Given the description of an element on the screen output the (x, y) to click on. 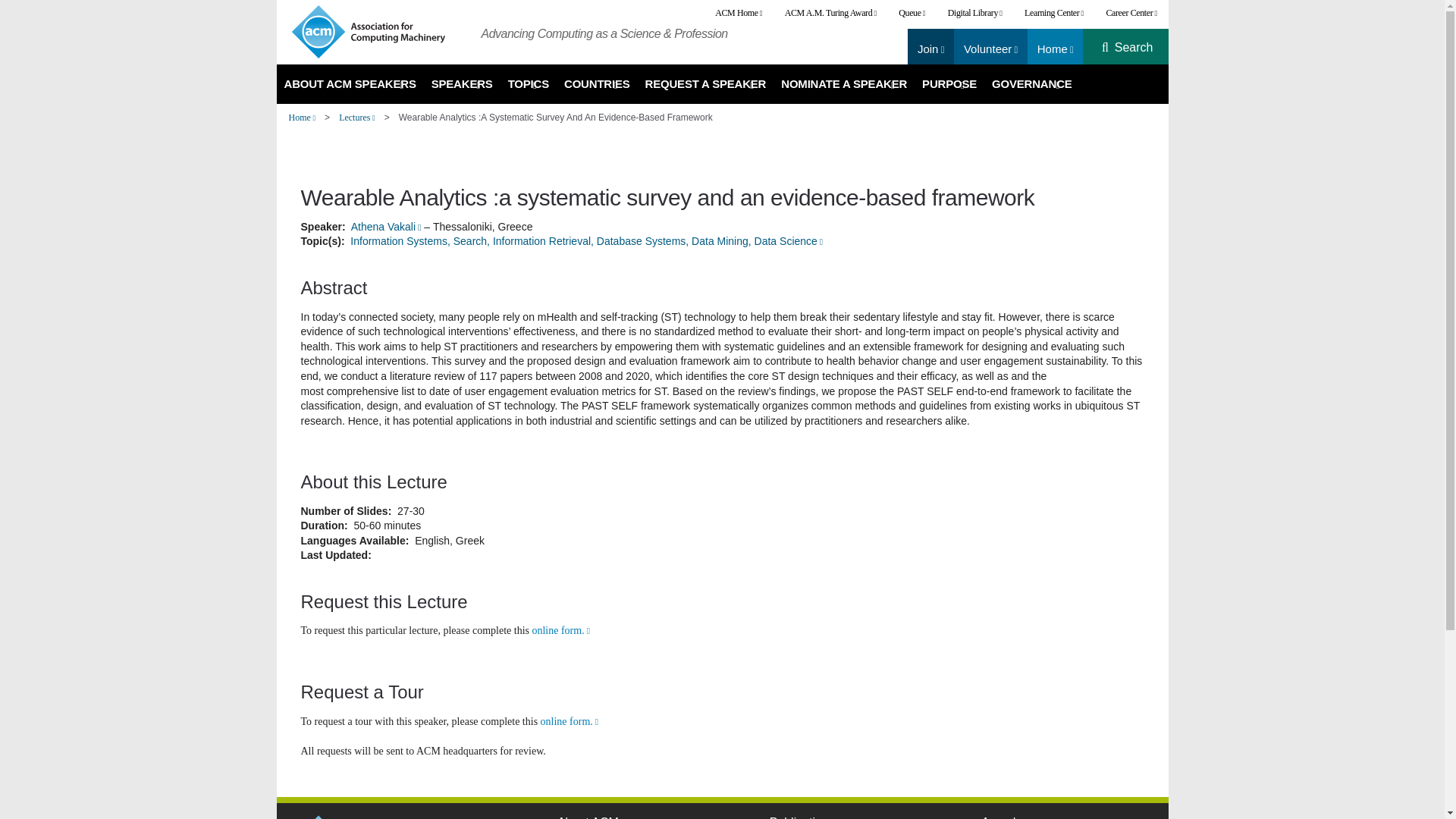
Learning Center (1053, 13)
Digital Library (974, 13)
ACM Home (738, 13)
ACM Home (738, 13)
ACM A.M. Turing Award (830, 13)
ABOUT ACM SPEAKERS (349, 84)
Queue (912, 13)
Career Center (1131, 13)
Queue (912, 13)
ACM A.M. Turing Award (830, 13)
